Given the description of an element on the screen output the (x, y) to click on. 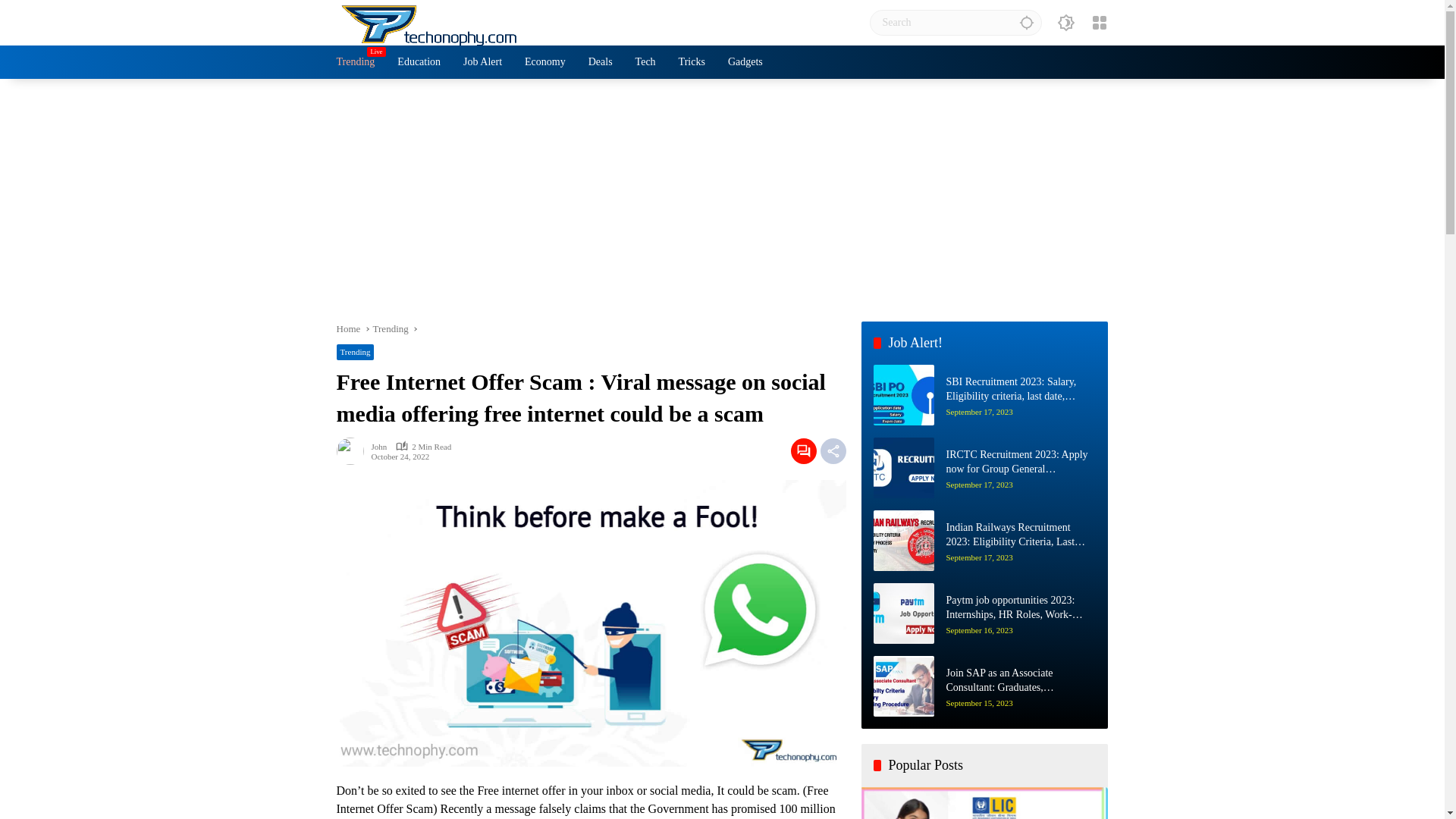
Education (419, 61)
Trending (355, 351)
View all posts in Trending (355, 351)
Gadgets (745, 61)
Home (348, 328)
Economy (545, 61)
Job Alert (482, 61)
John (379, 445)
Permalink to: John (353, 450)
Trending (355, 61)
John (379, 445)
Technophy (430, 21)
Trending (390, 328)
